Given the description of an element on the screen output the (x, y) to click on. 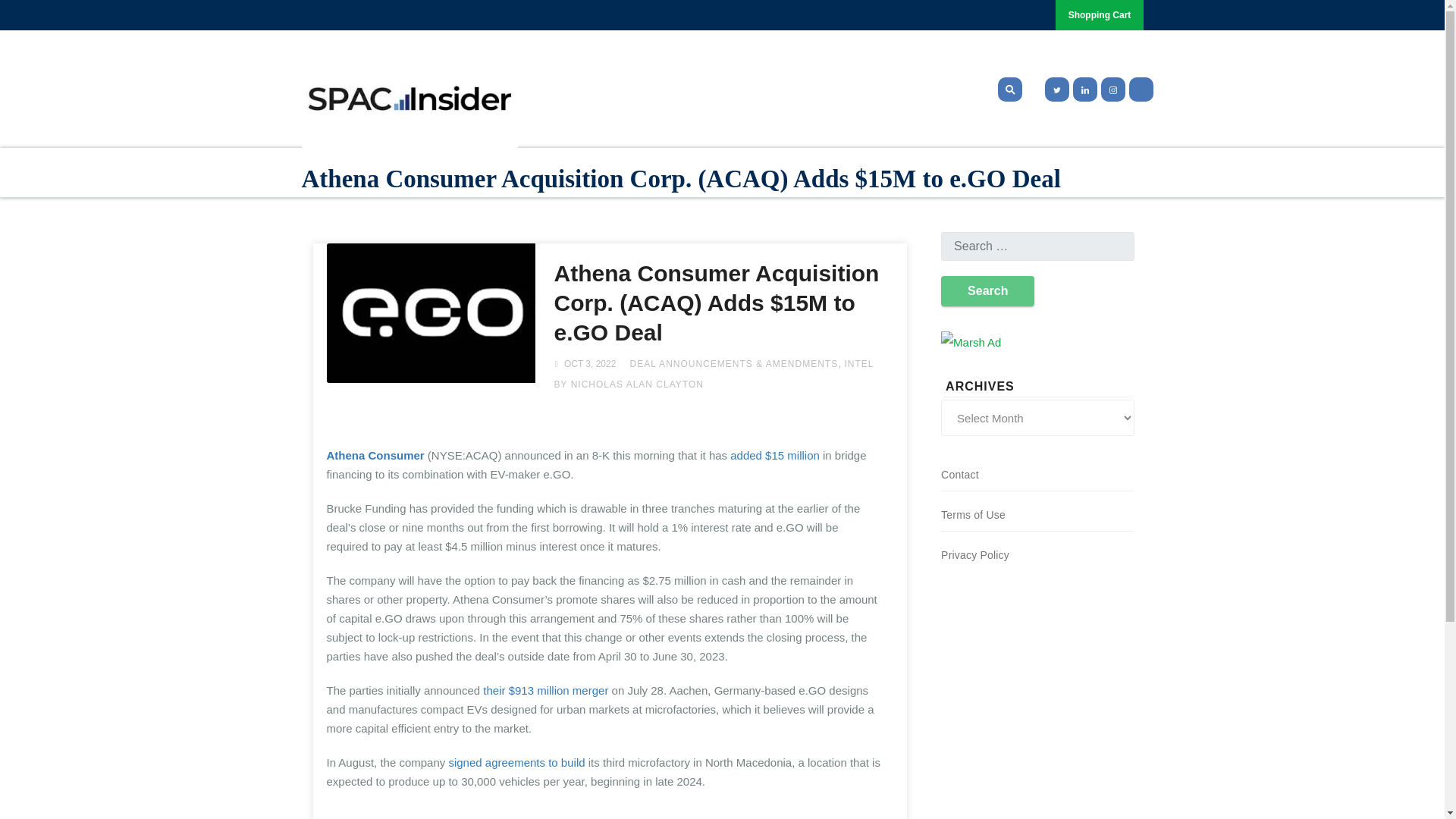
Terms of Use (973, 514)
Privacy Policy (974, 554)
BY NICHOLAS ALAN CLAYTON (628, 384)
LinkedIn (1083, 88)
Instagram (1112, 88)
Athena Consumer (374, 454)
Search (986, 291)
Shopping Cart (1098, 15)
INTEL (858, 363)
Contact (959, 474)
Apple Podcasts (1140, 88)
signed agreements to build (515, 762)
Twitter (1053, 88)
